Given the description of an element on the screen output the (x, y) to click on. 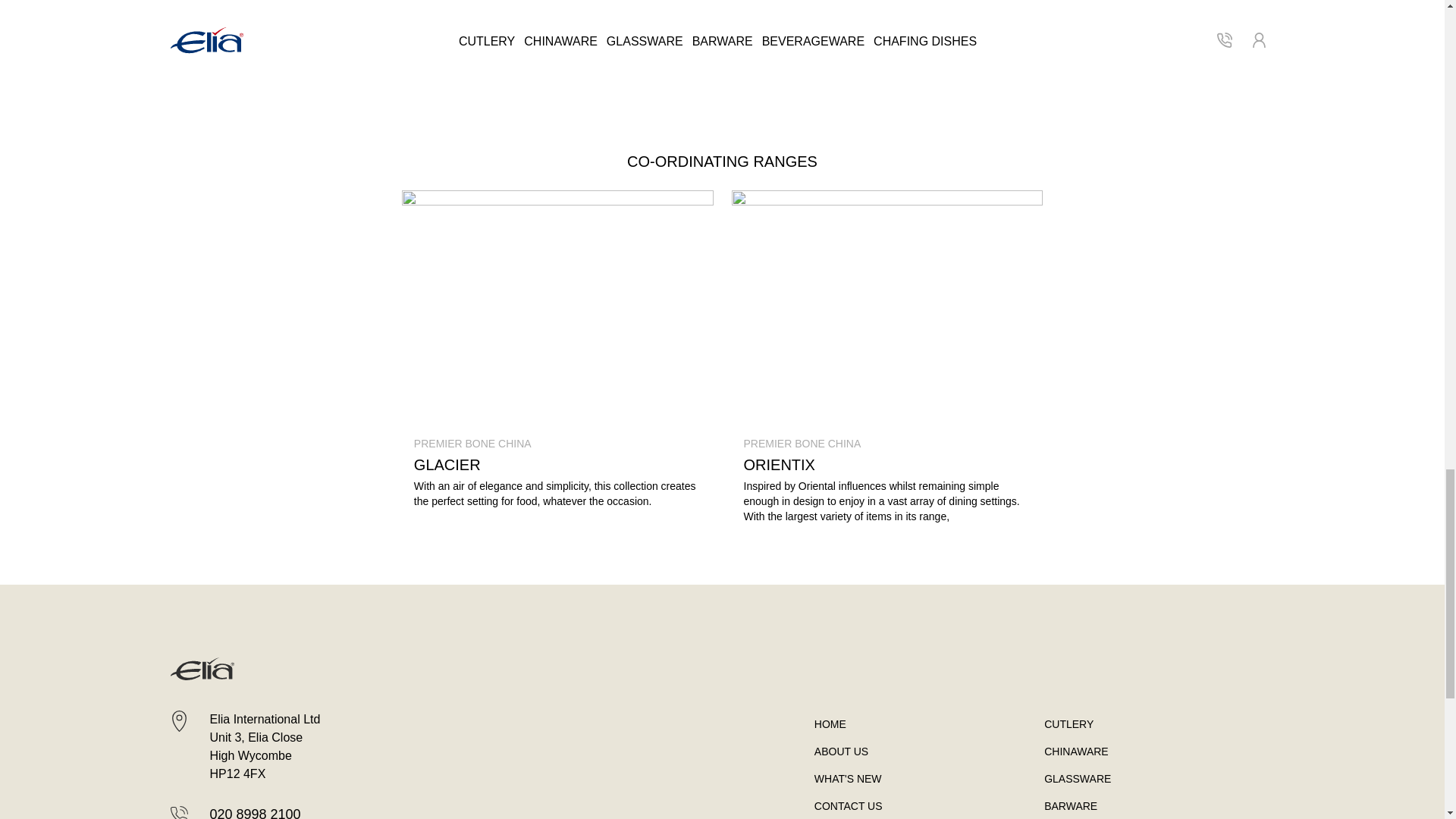
ABOUT US (840, 751)
CONTACT US (847, 806)
BARWARE (1070, 806)
LOG IN (475, 27)
CHINAWARE (886, 455)
CUTLERY (1075, 751)
HOME (1068, 724)
CONTACT US (829, 724)
WHAT'S NEW (969, 27)
